Given the description of an element on the screen output the (x, y) to click on. 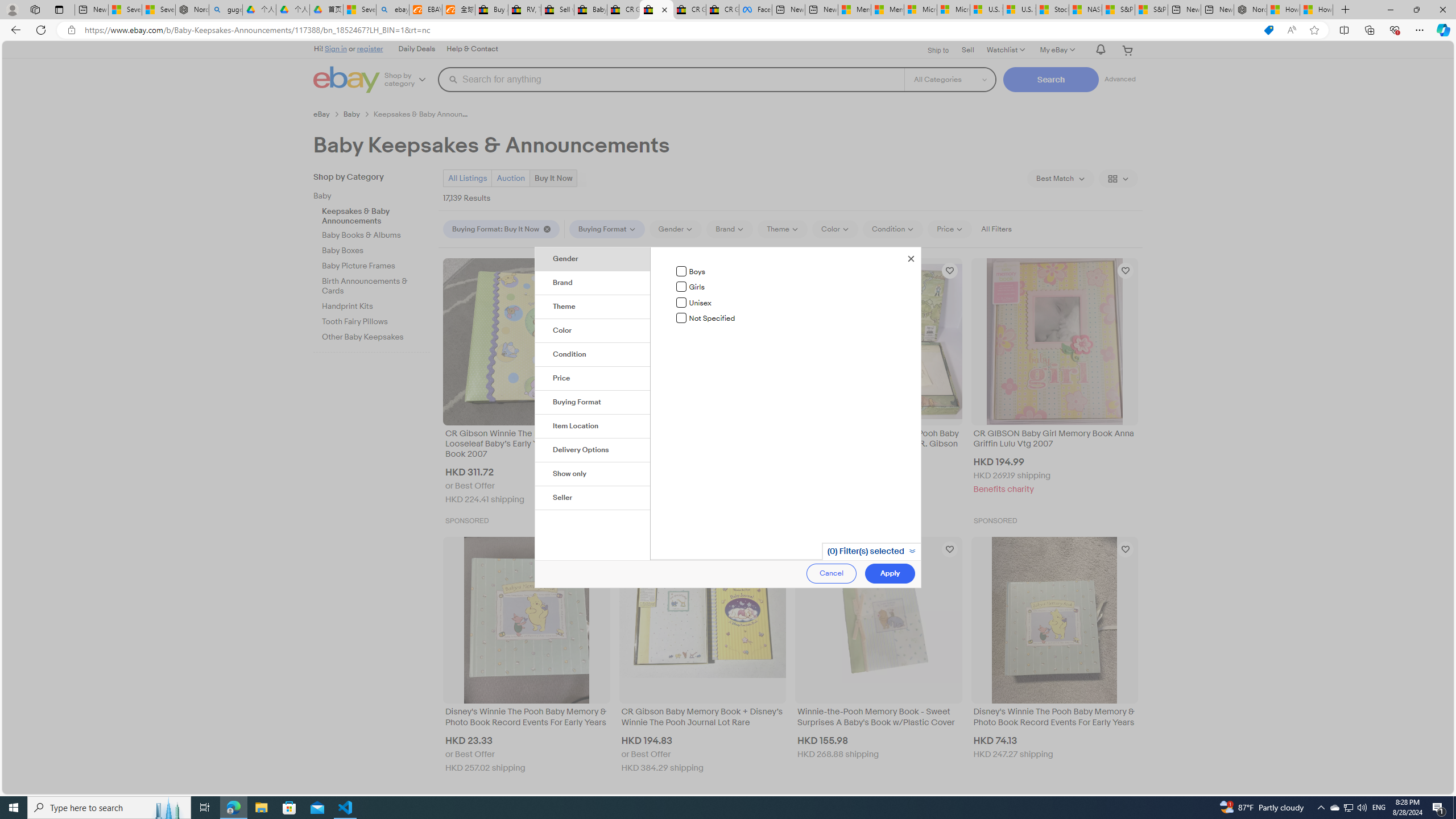
Refresh (40, 29)
Tab actions menu (58, 9)
Split screen (1344, 29)
Theme (592, 306)
App bar (728, 29)
Boys (681, 271)
Seller (592, 498)
Collections (1369, 29)
Gender (592, 259)
Show only (592, 474)
Workspaces (34, 9)
View site information (70, 29)
